Given the description of an element on the screen output the (x, y) to click on. 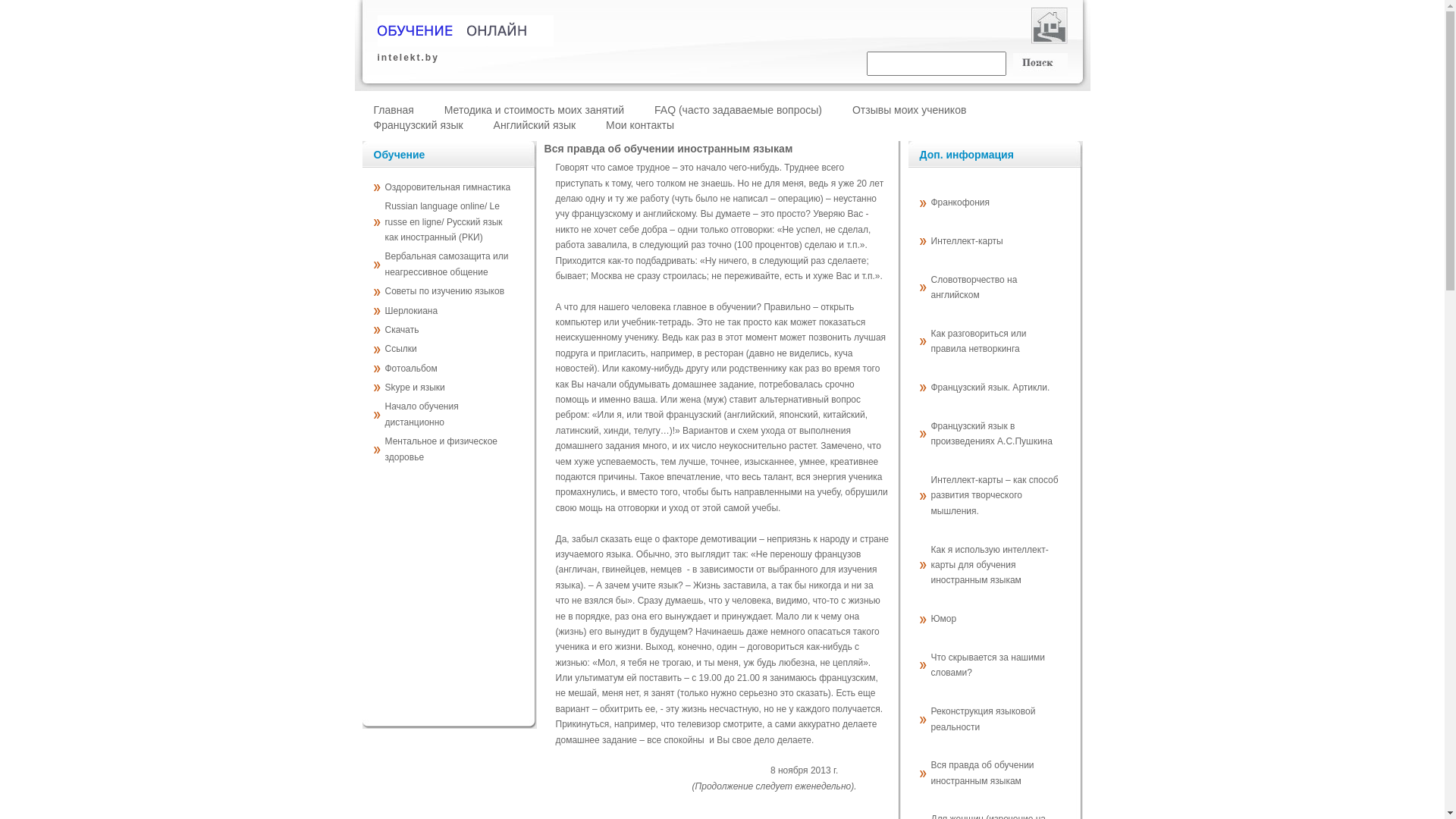
intelekt.by Element type: text (491, 45)
Go Element type: text (1040, 64)
searchfield Element type: hover (936, 63)
Search Element type: hover (1040, 64)
